Given the description of an element on the screen output the (x, y) to click on. 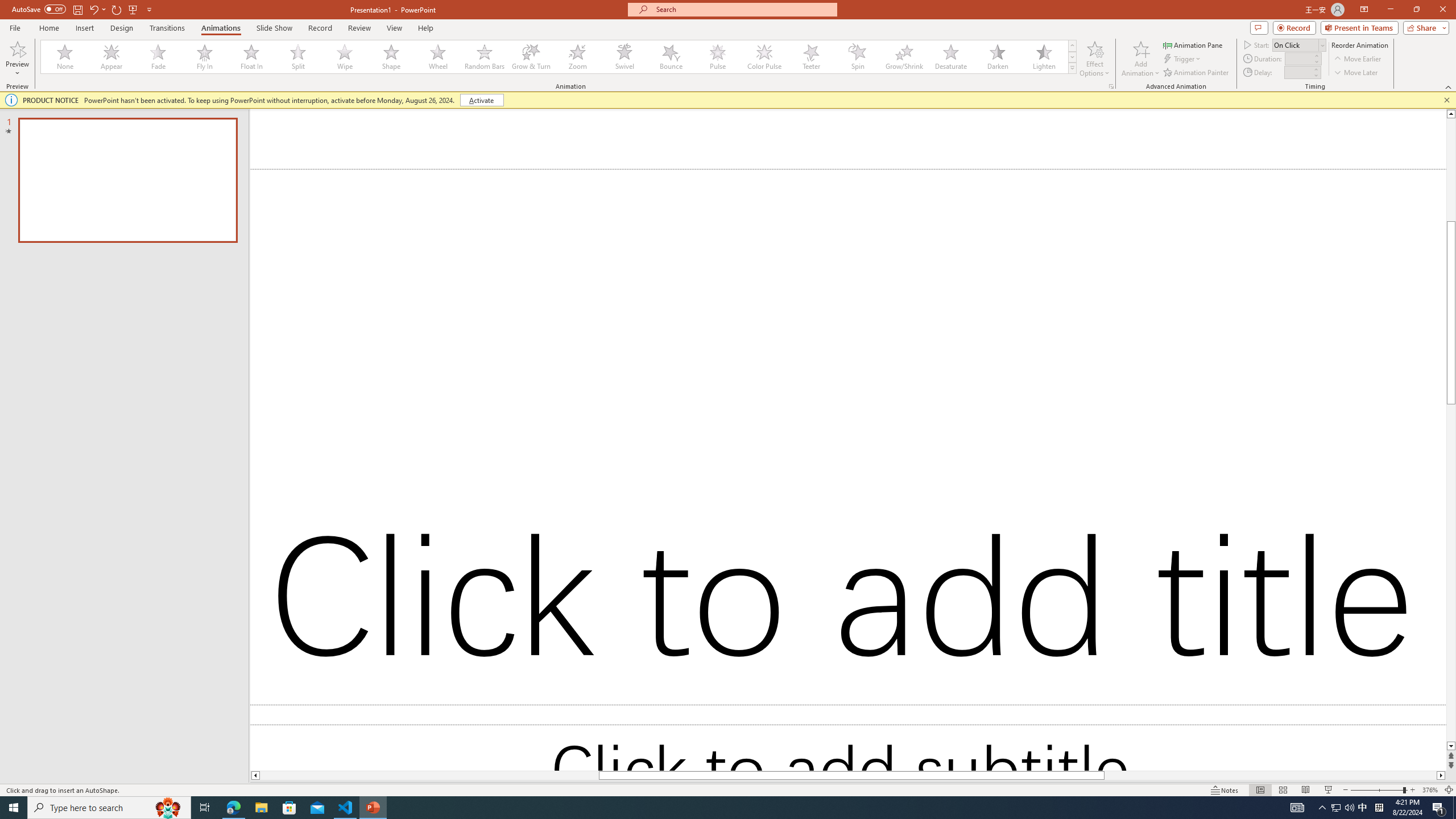
Animation Pane (1193, 44)
AutomationID: AnimationGallery (558, 56)
Add Animation (1141, 58)
Animation Delay (1297, 72)
